Given the description of an element on the screen output the (x, y) to click on. 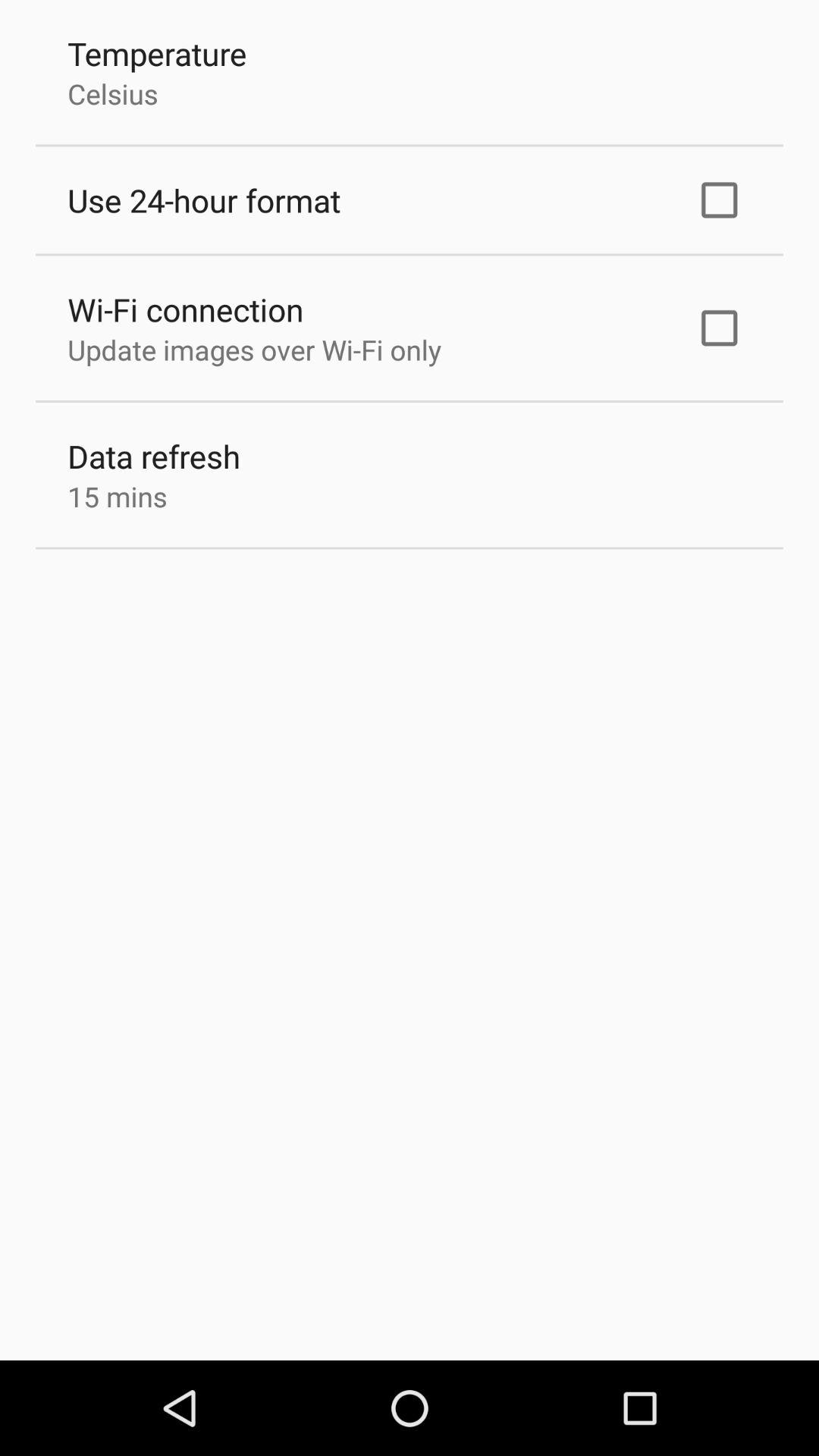
scroll to 15 mins (117, 496)
